Given the description of an element on the screen output the (x, y) to click on. 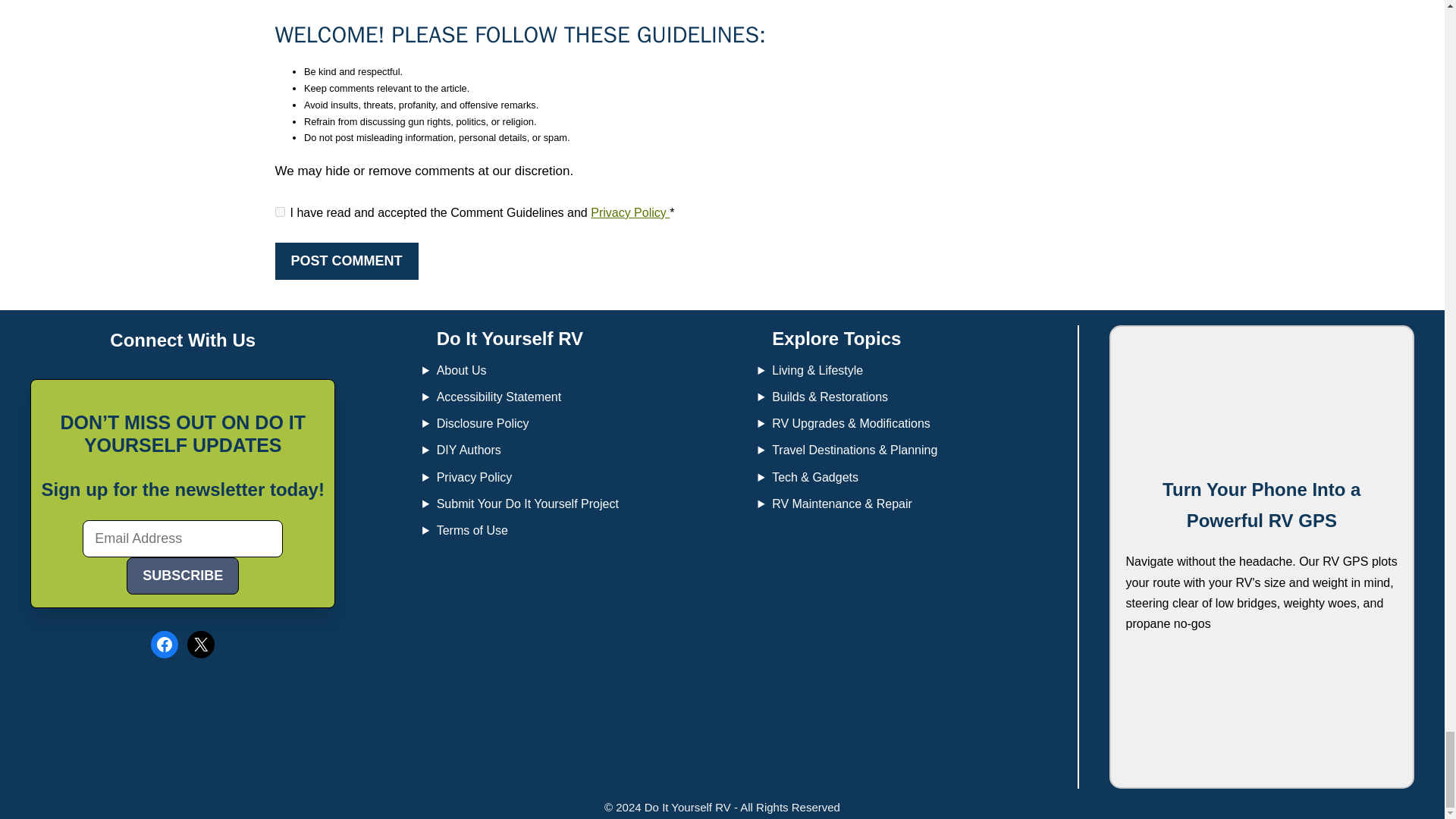
Subscribe (182, 575)
policy-key (279, 212)
Post Comment (346, 261)
